Given the description of an element on the screen output the (x, y) to click on. 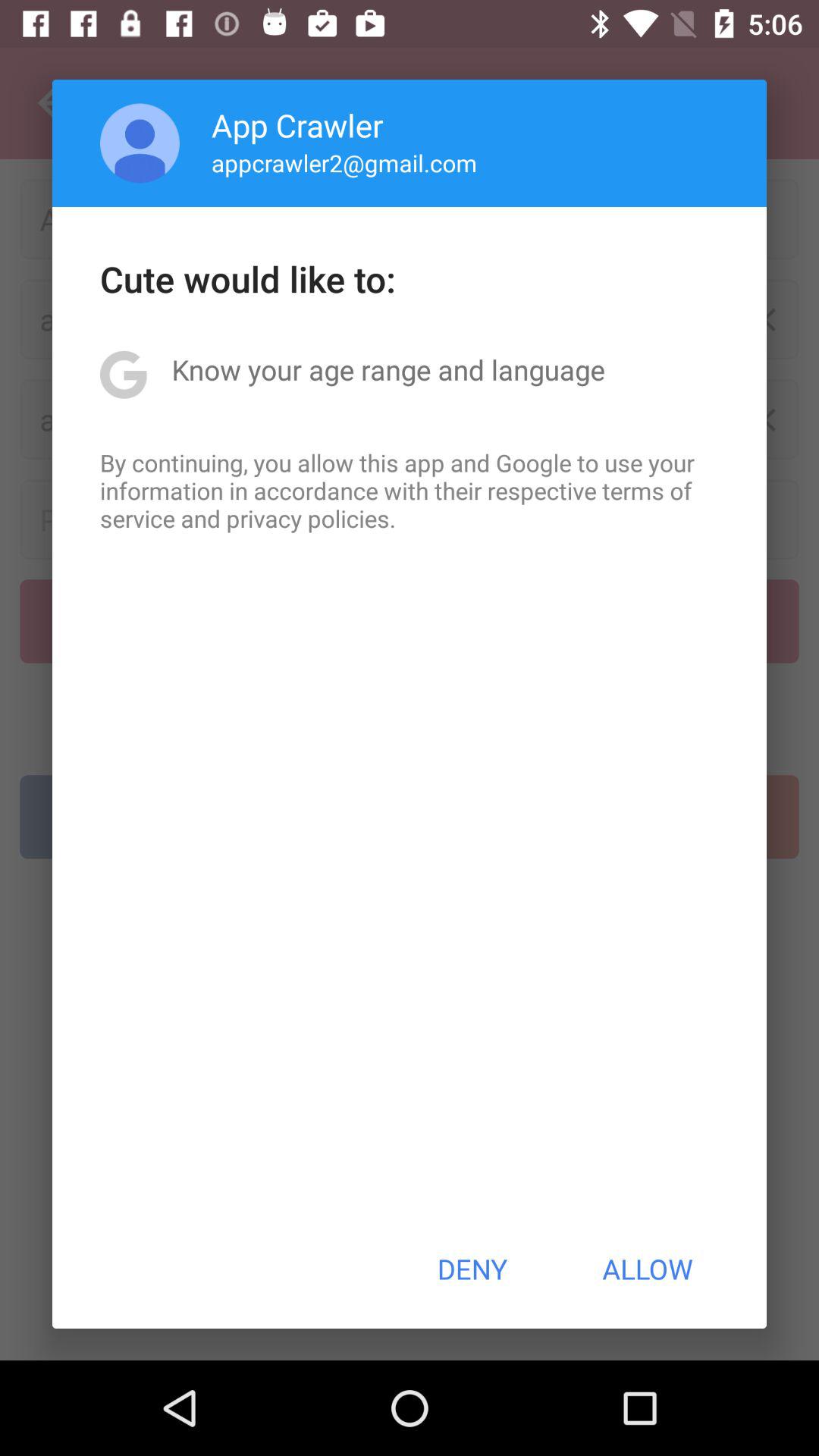
click app crawler app (297, 124)
